Given the description of an element on the screen output the (x, y) to click on. 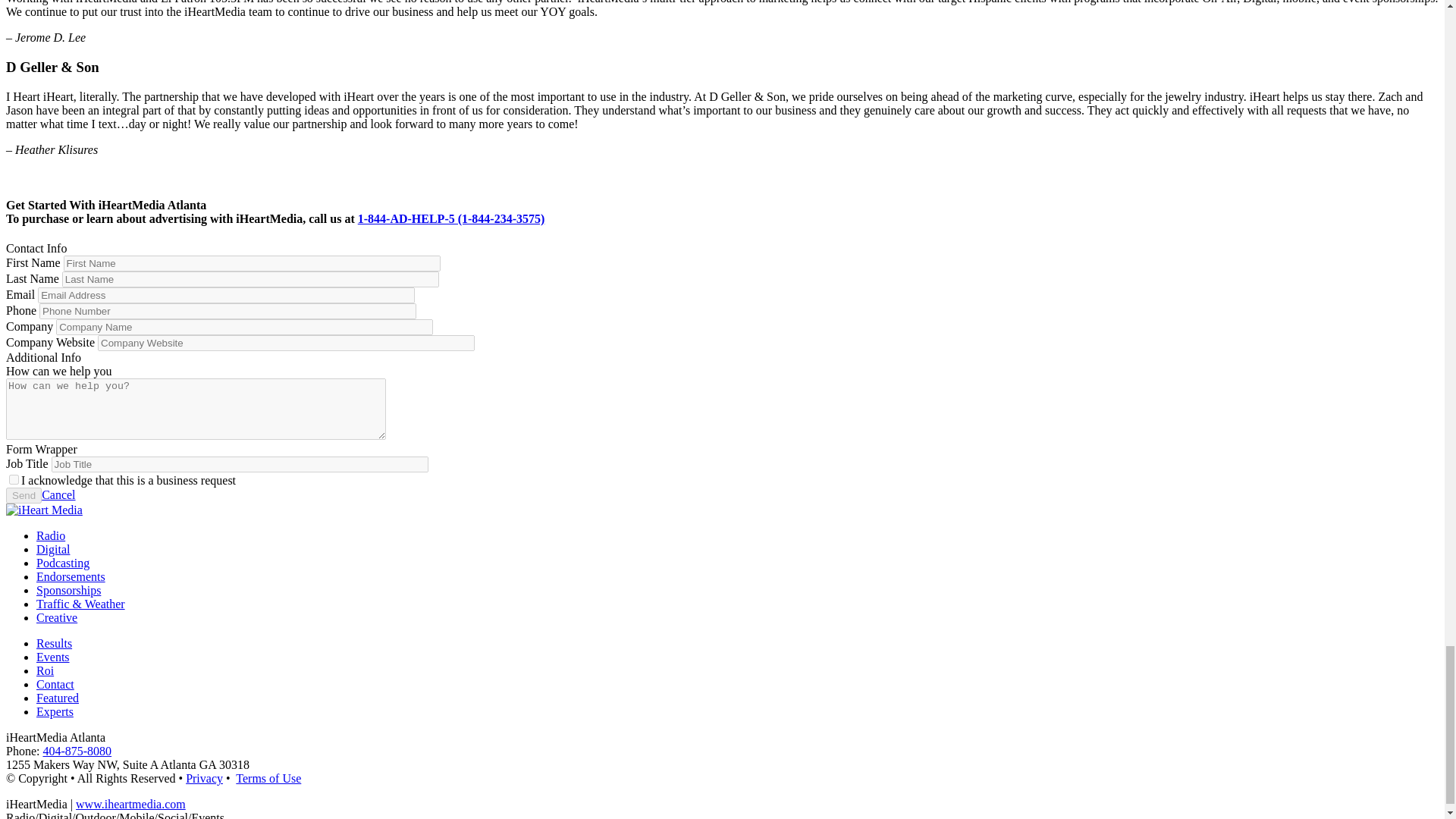
Radio (50, 535)
Contact (55, 684)
Ask an Expert (55, 711)
Digital (52, 549)
sponsorships (68, 590)
Podcast (80, 603)
Podcasting (62, 562)
1 (13, 479)
Events (52, 656)
iHeartMedia (130, 803)
Creative (53, 643)
Featured (57, 697)
Creative (56, 617)
ROI (44, 670)
Endorsements (70, 576)
